Given the description of an element on the screen output the (x, y) to click on. 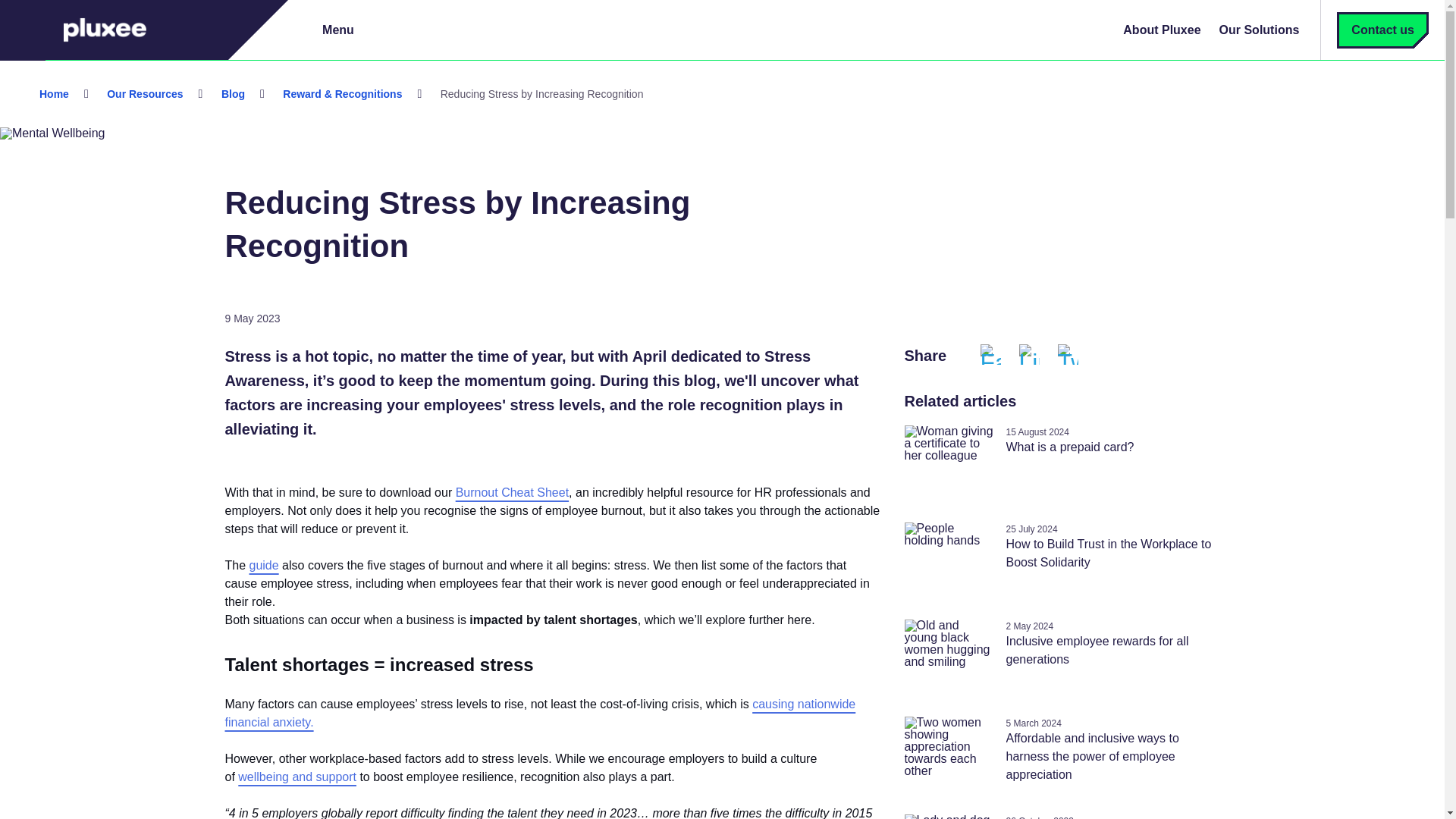
Contact us (1382, 29)
wellbeing and support (297, 778)
causing nationwide financial anxiety. (540, 714)
About Pluxee (1161, 29)
Our Solutions (1258, 29)
guide (263, 566)
Home (54, 93)
Burnout Cheat Sheet (512, 494)
Blog (232, 93)
Our Resources (144, 93)
